Given the description of an element on the screen output the (x, y) to click on. 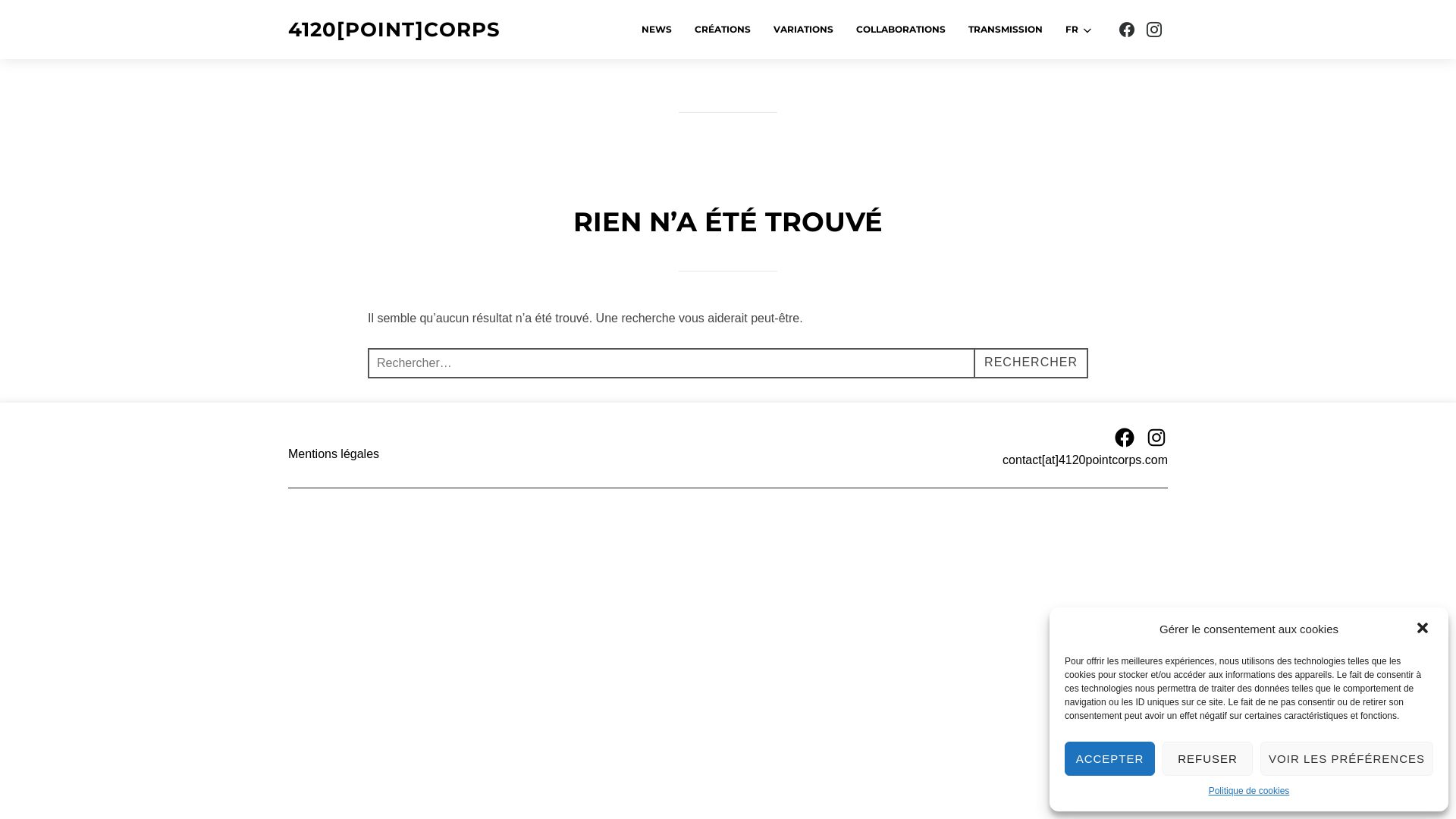
RECHERCHER Element type: text (1030, 363)
Politique de cookies Element type: text (1248, 791)
NEWS Element type: text (656, 29)
Facebook Element type: text (1124, 437)
4120[POINT]CORPS Element type: text (394, 29)
VARIATIONS Element type: text (803, 29)
ACCEPTER Element type: text (1109, 758)
FR Element type: text (1079, 29)
REFUSER Element type: text (1207, 758)
COLLABORATIONS Element type: text (900, 29)
TRANSMISSION Element type: text (1005, 29)
Instagram Element type: text (1156, 437)
